Given the description of an element on the screen output the (x, y) to click on. 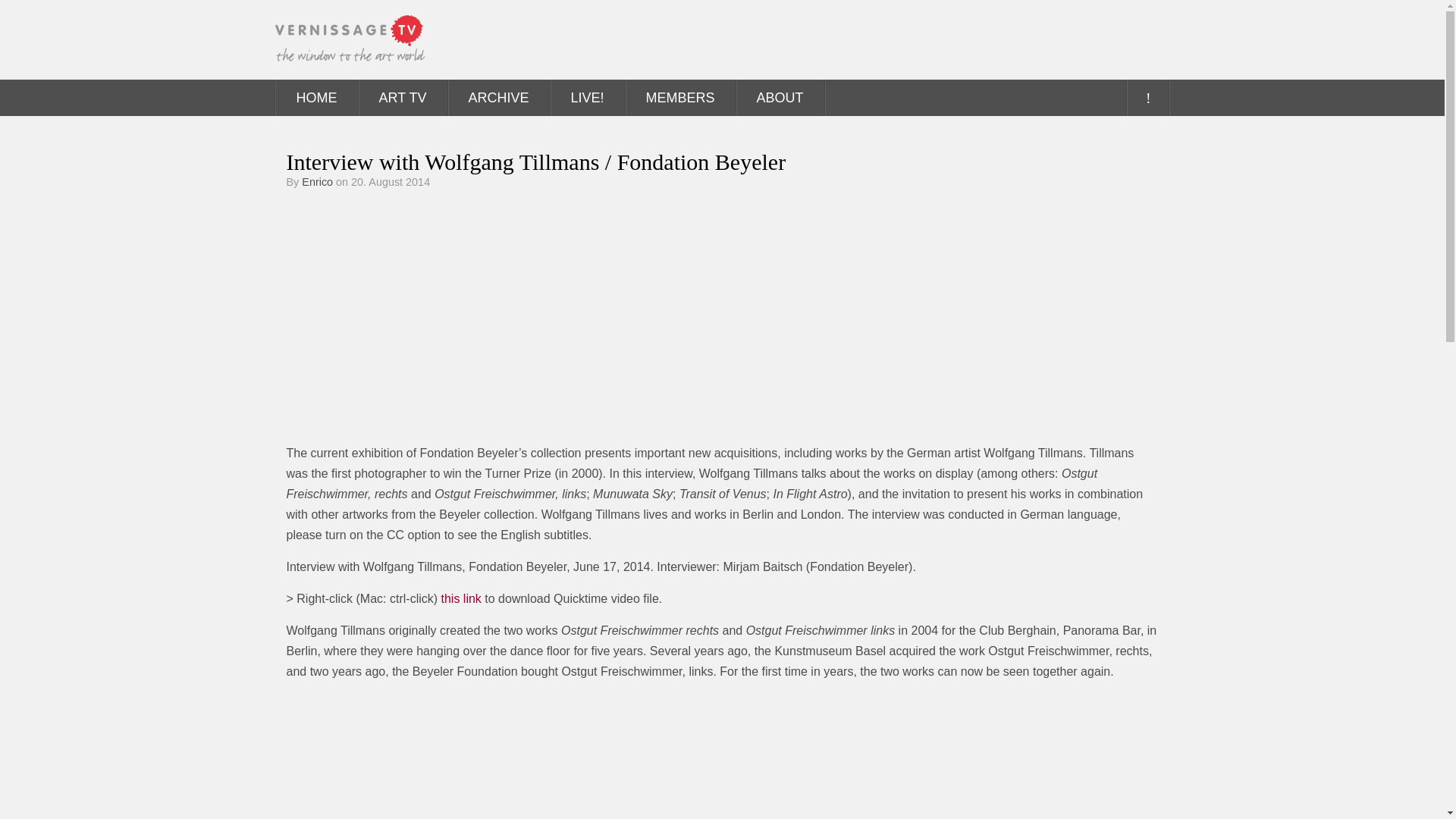
VernissageTV Art TV - the window to the art world (350, 39)
HOME (317, 97)
Enrico (317, 182)
View all posts by Enrico (317, 182)
LIVE! (587, 97)
ABOUT (780, 97)
Interview with Wolfgang Tillmans at Fondation Beyeler (475, 314)
MEMBERS (680, 97)
ARCHIVE (499, 97)
ART TV (402, 97)
